Given the description of an element on the screen output the (x, y) to click on. 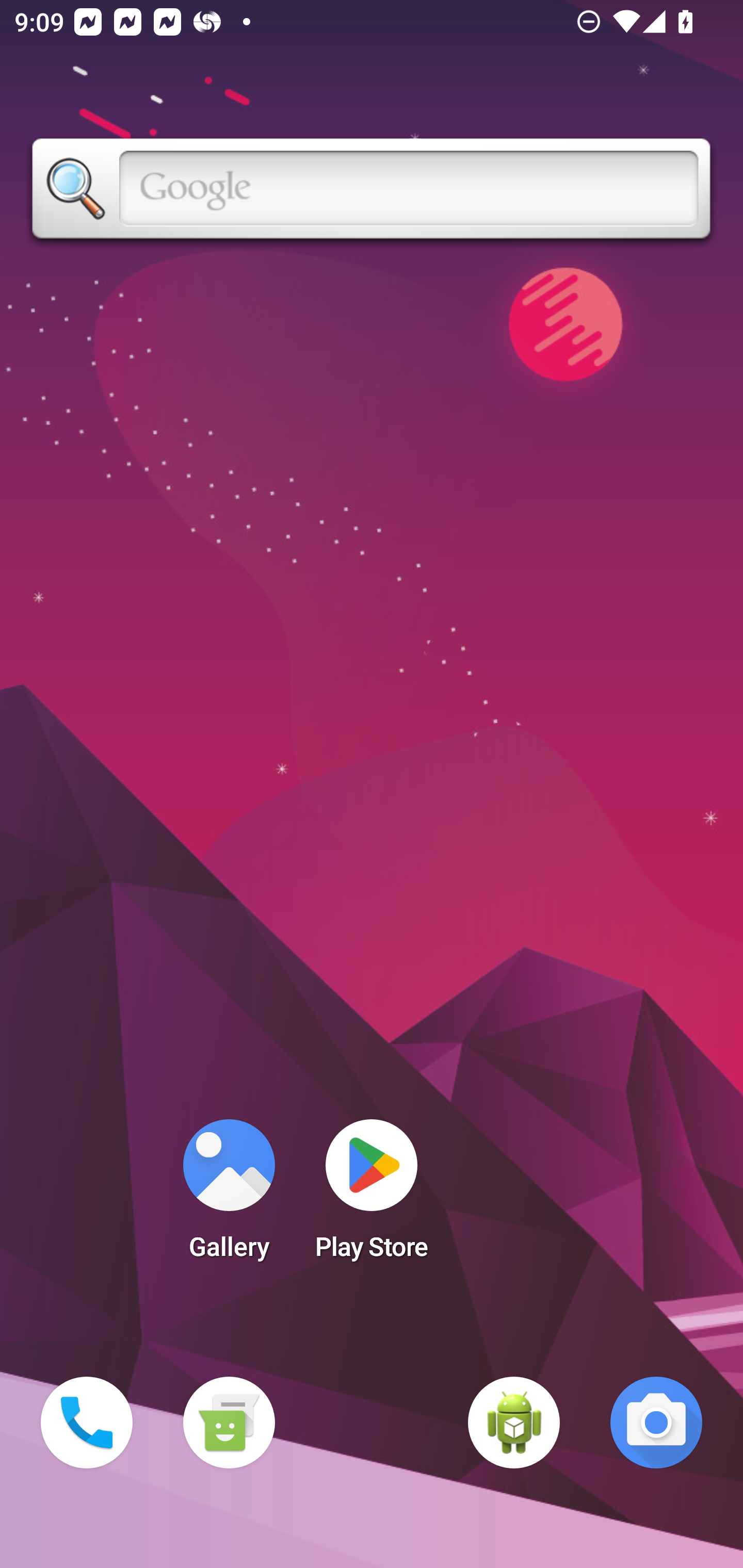
Gallery (228, 1195)
Play Store (371, 1195)
Phone (86, 1422)
Messaging (228, 1422)
WebView Browser Tester (513, 1422)
Camera (656, 1422)
